Given the description of an element on the screen output the (x, y) to click on. 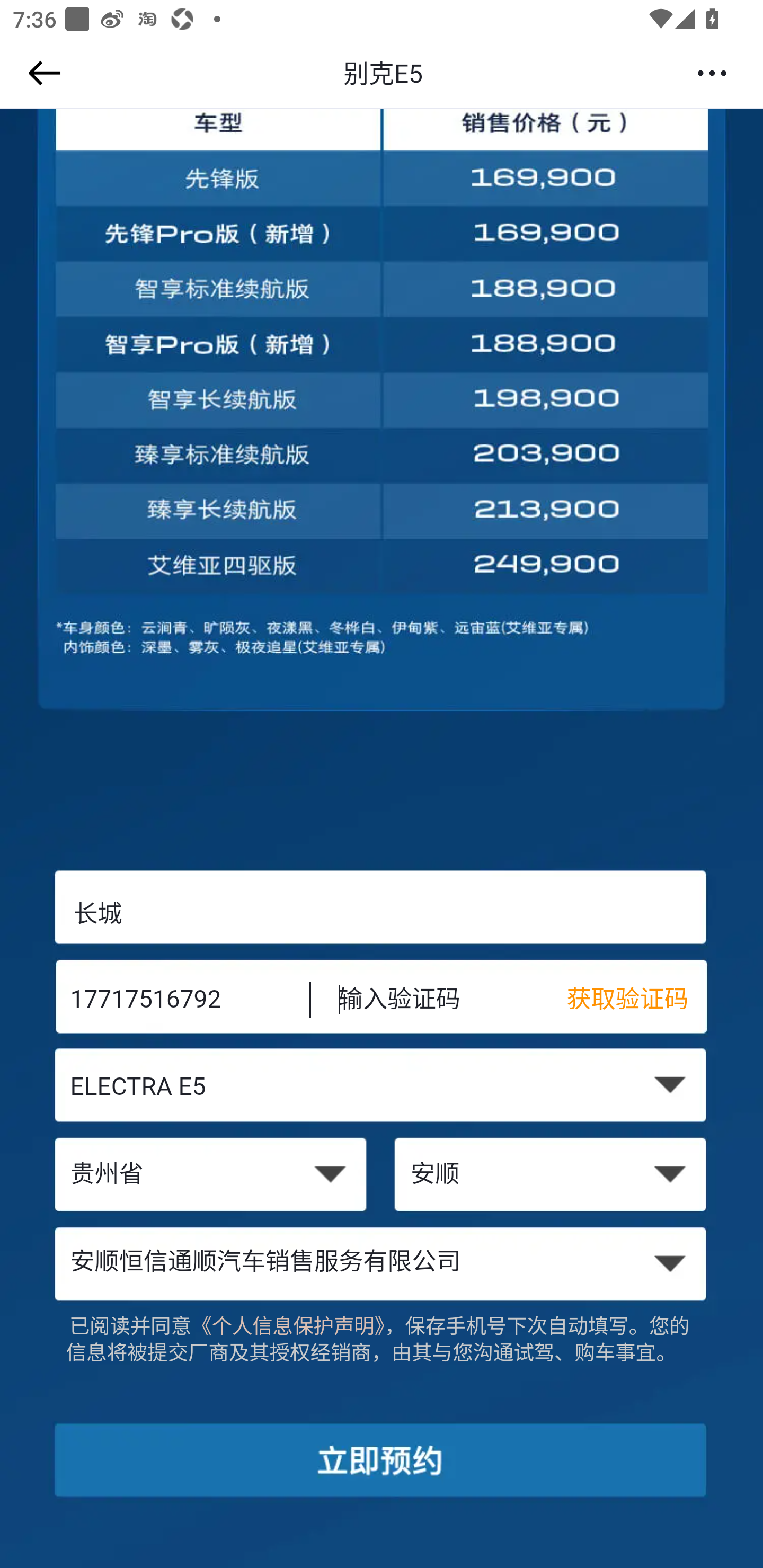
 (41, 72)
长城 (381, 912)
17717516792 (176, 1001)
获取验证码 (637, 1001)
ELECTRA E5 (381, 1088)
贵州省 (210, 1175)
安顺 (552, 1175)
安顺恒信通顺汽车销售服务有限公司 (381, 1262)
